Given the description of an element on the screen output the (x, y) to click on. 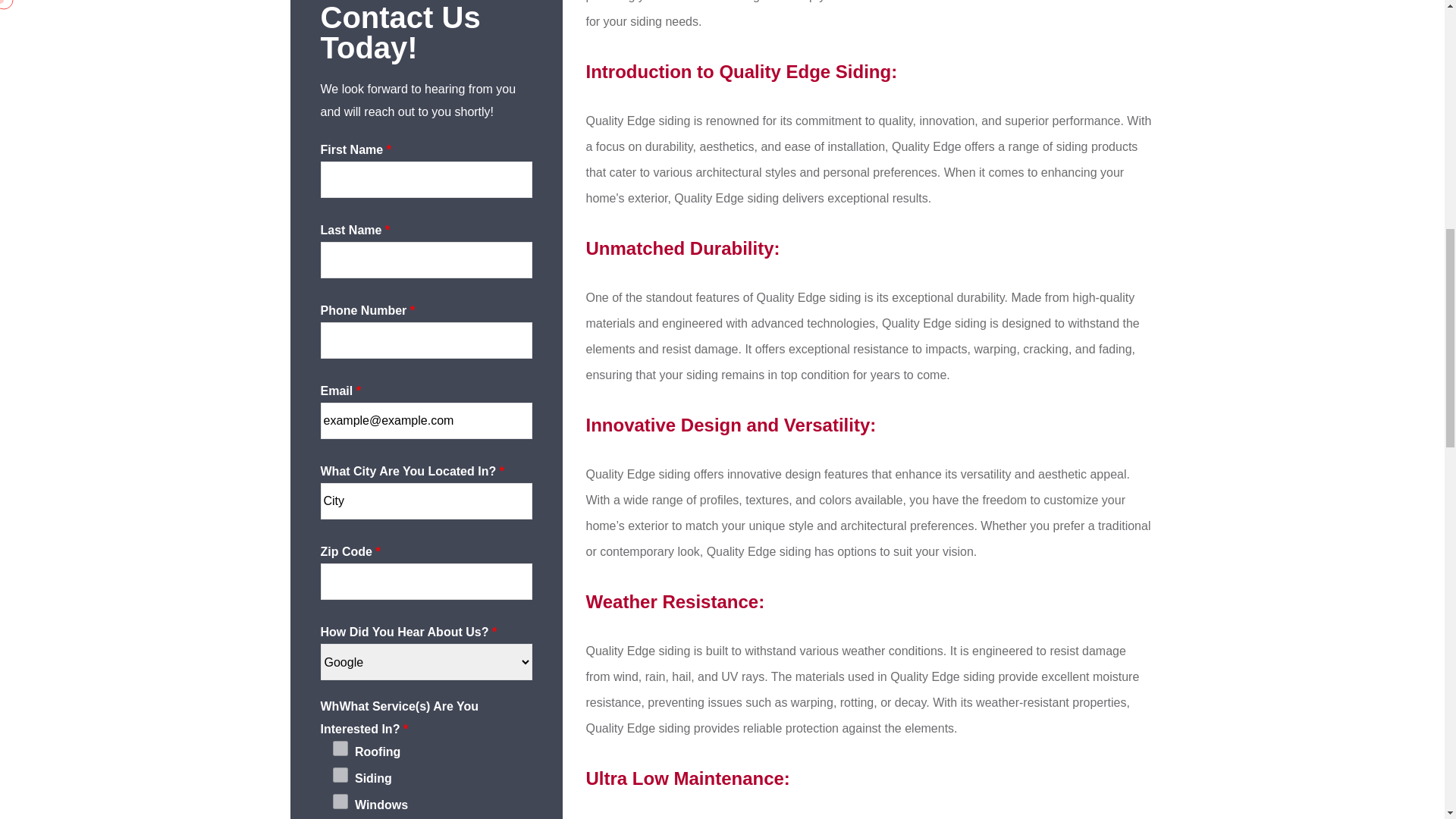
Windows (339, 801)
Siding (339, 774)
Roofing (339, 748)
